Given the description of an element on the screen output the (x, y) to click on. 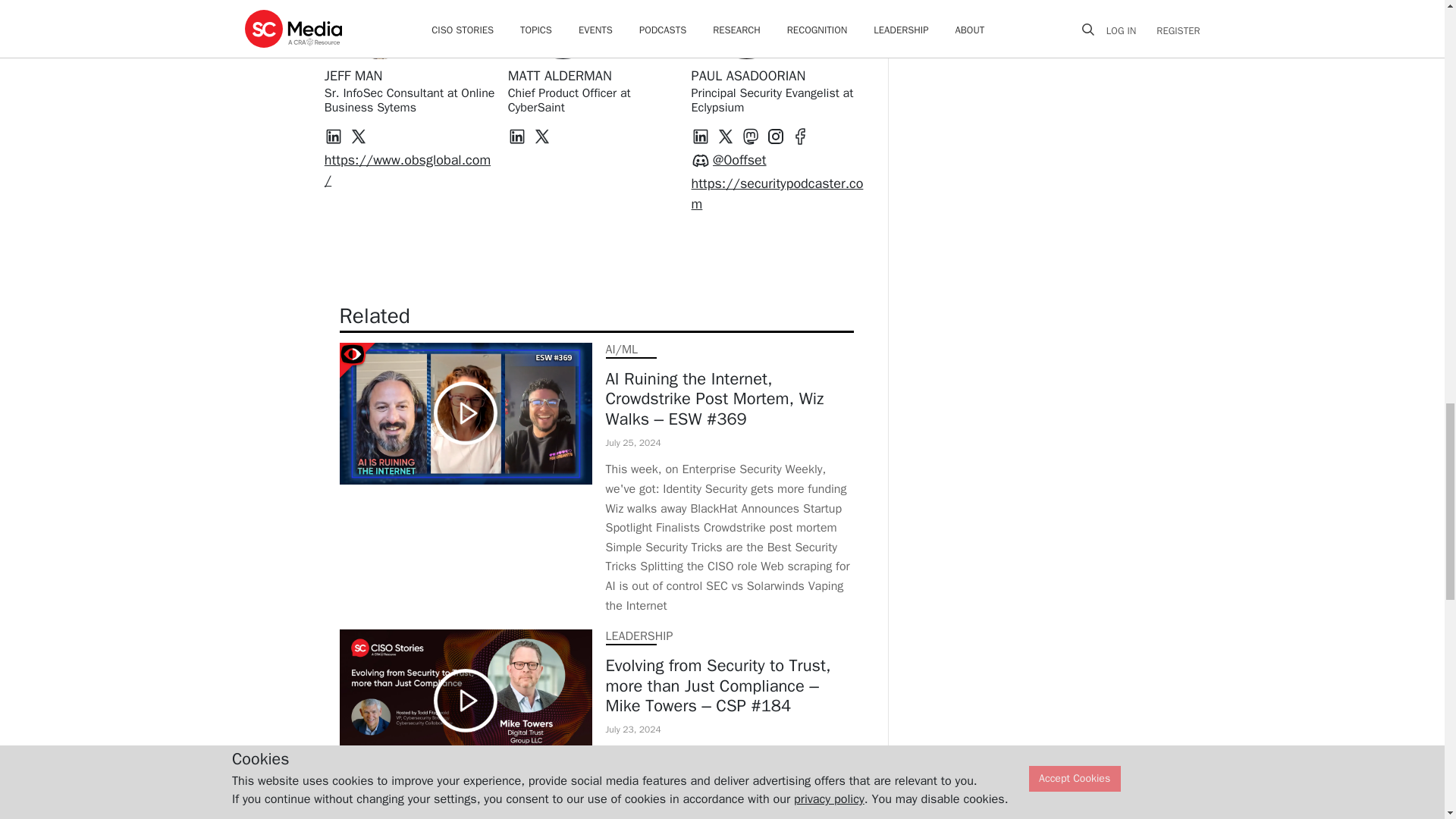
JEFF MAN (353, 75)
MATT ALDERMAN (559, 75)
PAUL ASADOORIAN (748, 75)
